Given the description of an element on the screen output the (x, y) to click on. 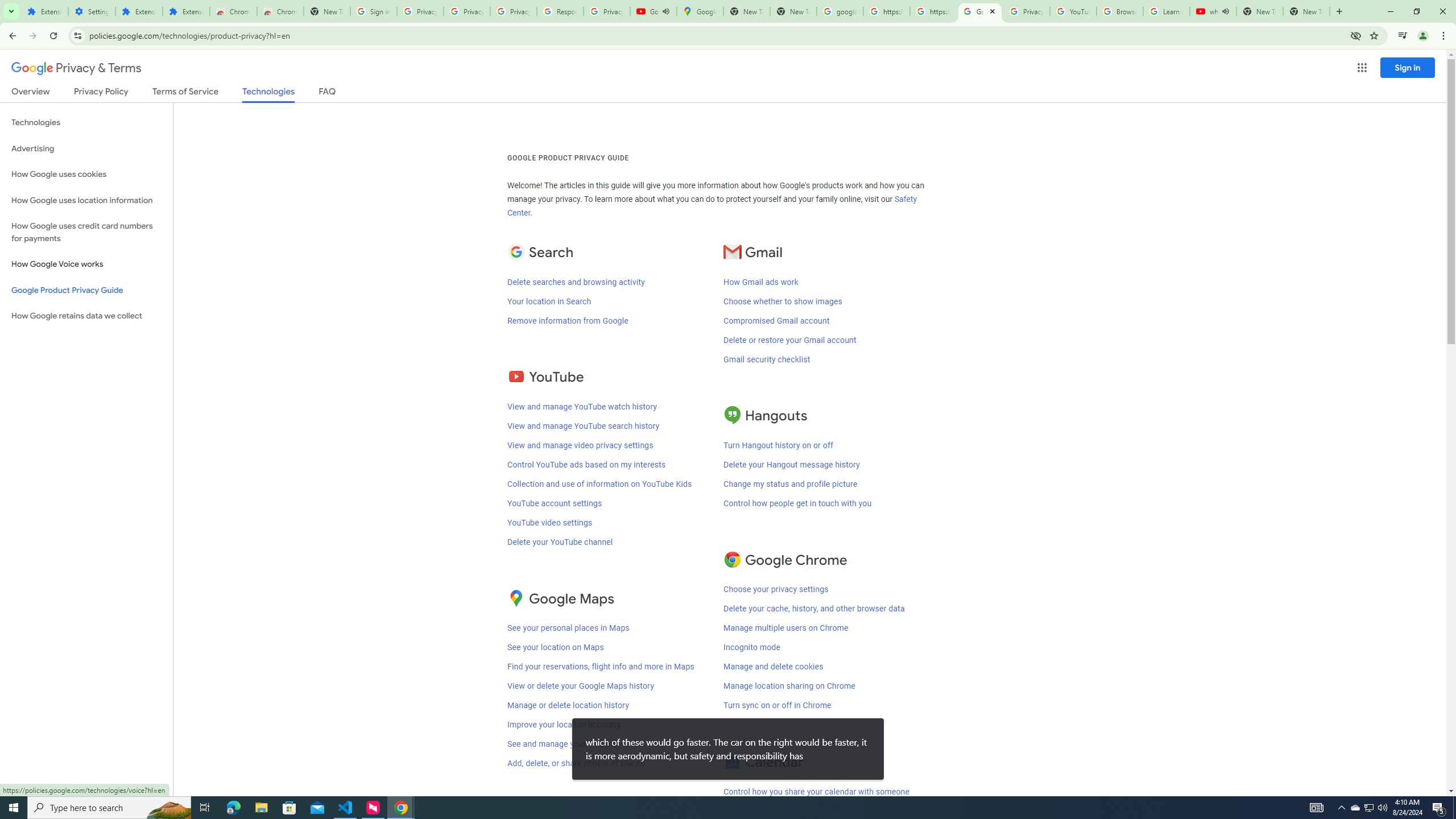
Google Maps (699, 11)
YouTube video settings (549, 522)
Delete your cache, history, and other browser data (813, 609)
Sign in - Google Accounts (373, 11)
Choose whether to show images (783, 301)
Add, delete, or share photos of places (575, 763)
Delete or restore your Gmail account (789, 339)
Gmail security checklist (766, 359)
Safety Center (711, 206)
Turn sync on or off in Chrome (777, 705)
